Given the description of an element on the screen output the (x, y) to click on. 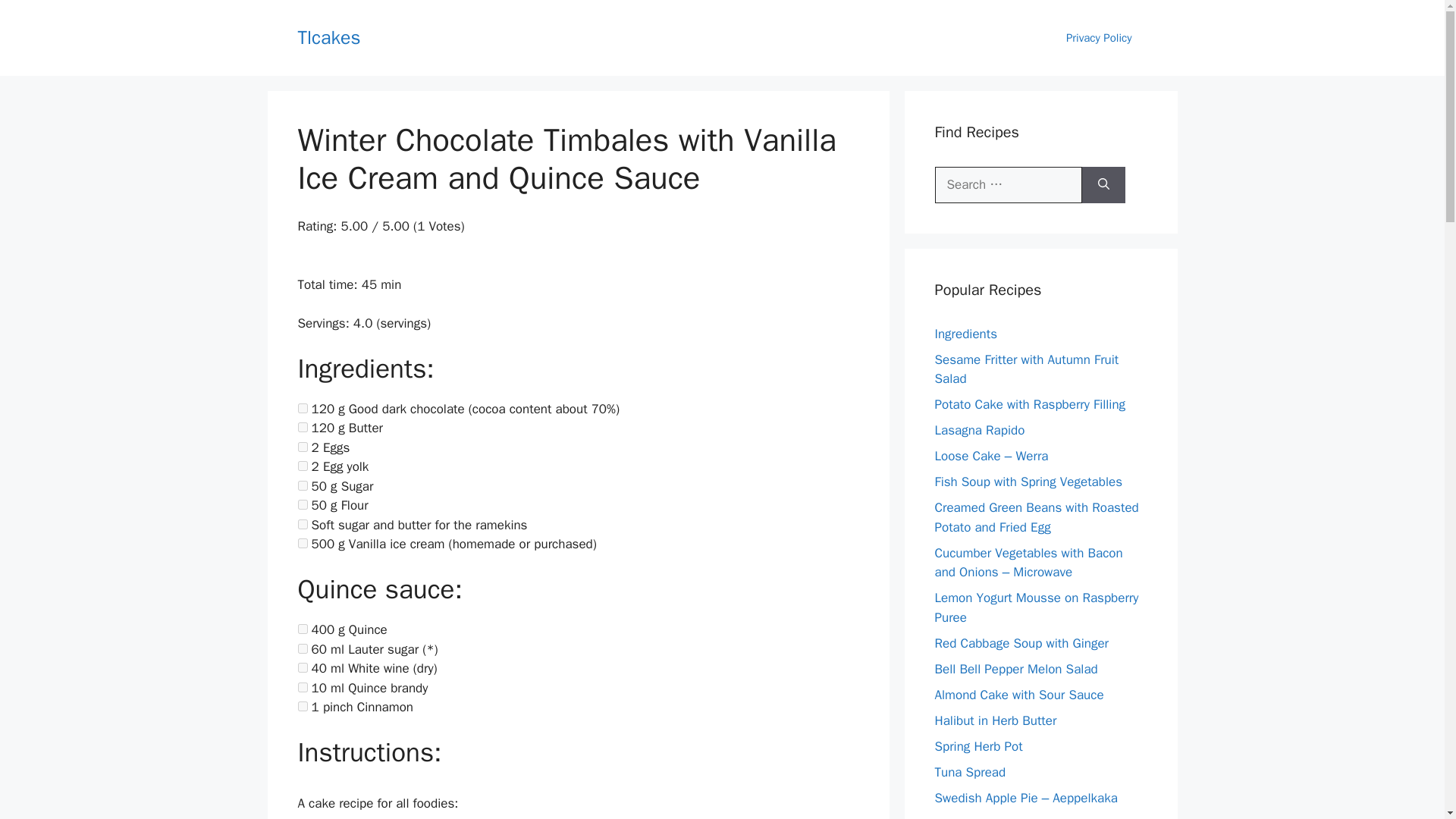
120 g Butter (302, 427)
Sesame Fritter with Autumn Fruit Salad (1026, 369)
Lasagna Rapido (979, 430)
Halibut in Herb Butter (995, 720)
400 g Quince (302, 628)
Red Cabbage Soup with Ginger (1021, 643)
2  Eggs (302, 447)
Privacy Policy (1099, 37)
Search for: (1007, 185)
Tlcakes (328, 37)
  Soft sugar and butter for the ramekins (302, 524)
2  Egg yolk (302, 465)
50 g Flour (302, 504)
Fish Soup with Spring Vegetables (1028, 481)
Creamed Green Beans with Roasted Potato and Fried Egg (1036, 517)
